Given the description of an element on the screen output the (x, y) to click on. 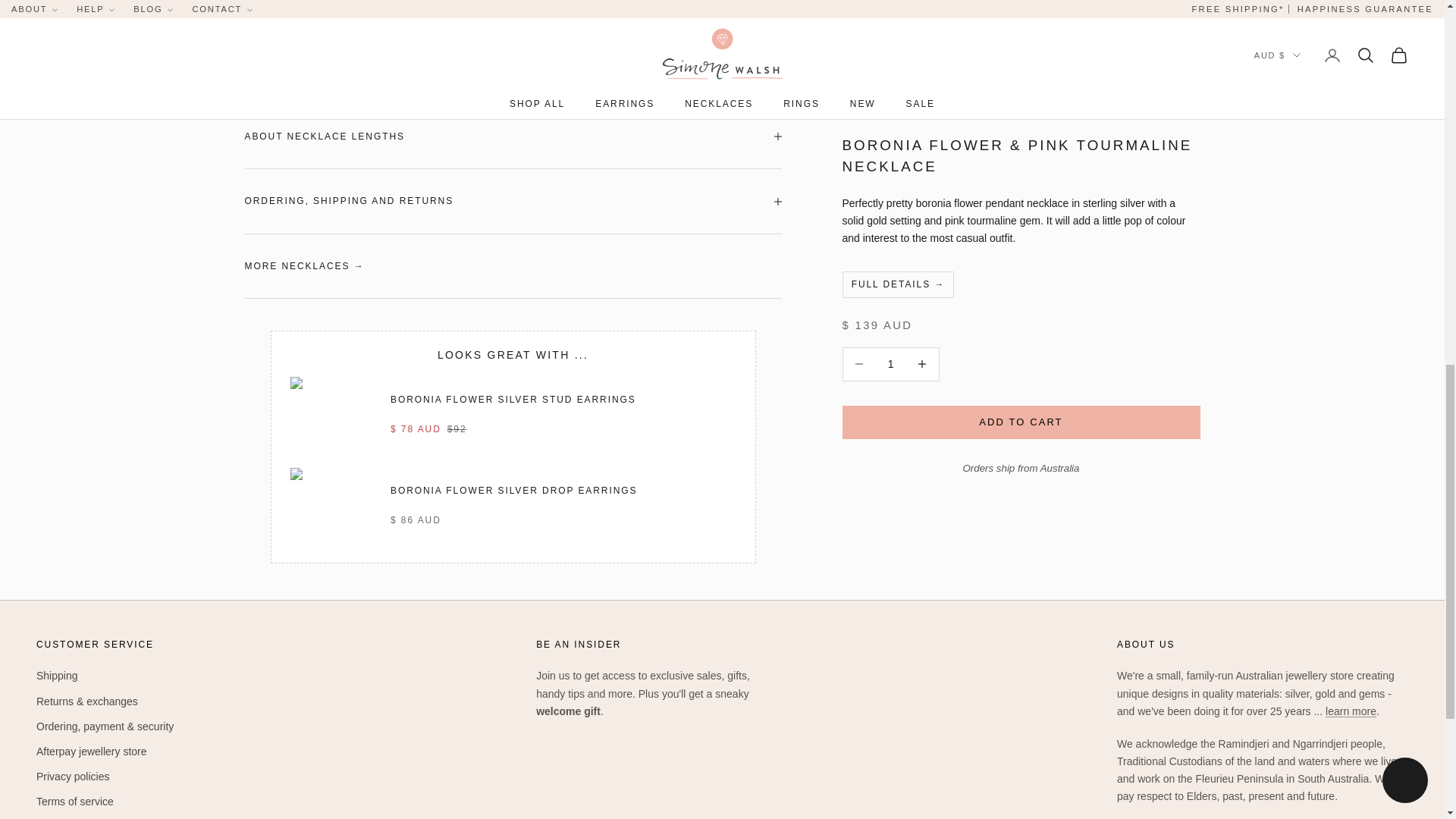
Love Australian Jewellers? About Simone Walsh Jewellery (1349, 711)
